Given the description of an element on the screen output the (x, y) to click on. 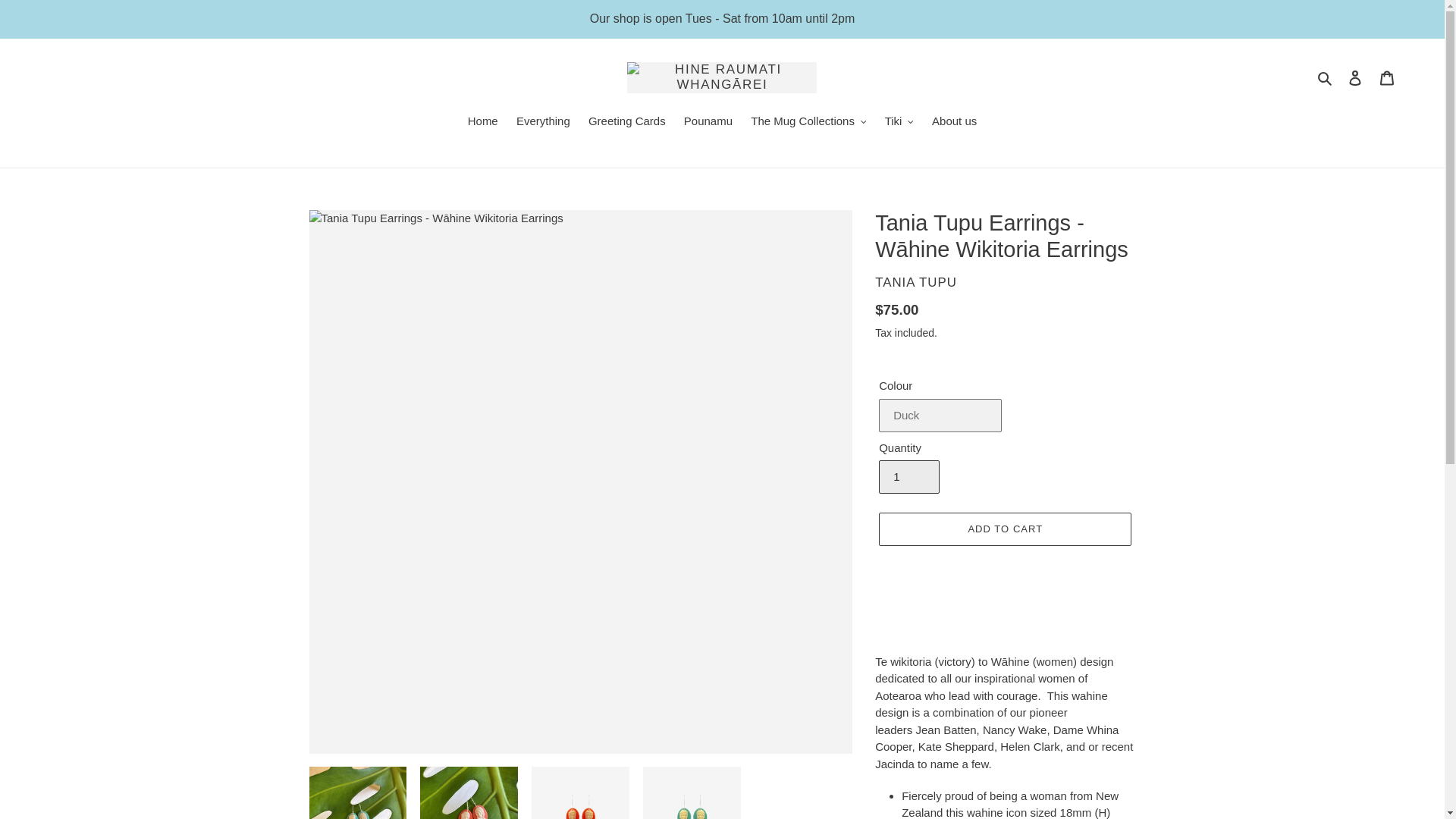
Search (1326, 76)
Log in (1355, 77)
About us (954, 121)
Home (482, 121)
Tiki (899, 121)
Greeting Cards (626, 121)
Pounamu (708, 121)
Our shop is open Tues - Sat from 10am until 2pm (721, 18)
The Mug Collections (807, 121)
Cart (1387, 77)
